Given the description of an element on the screen output the (x, y) to click on. 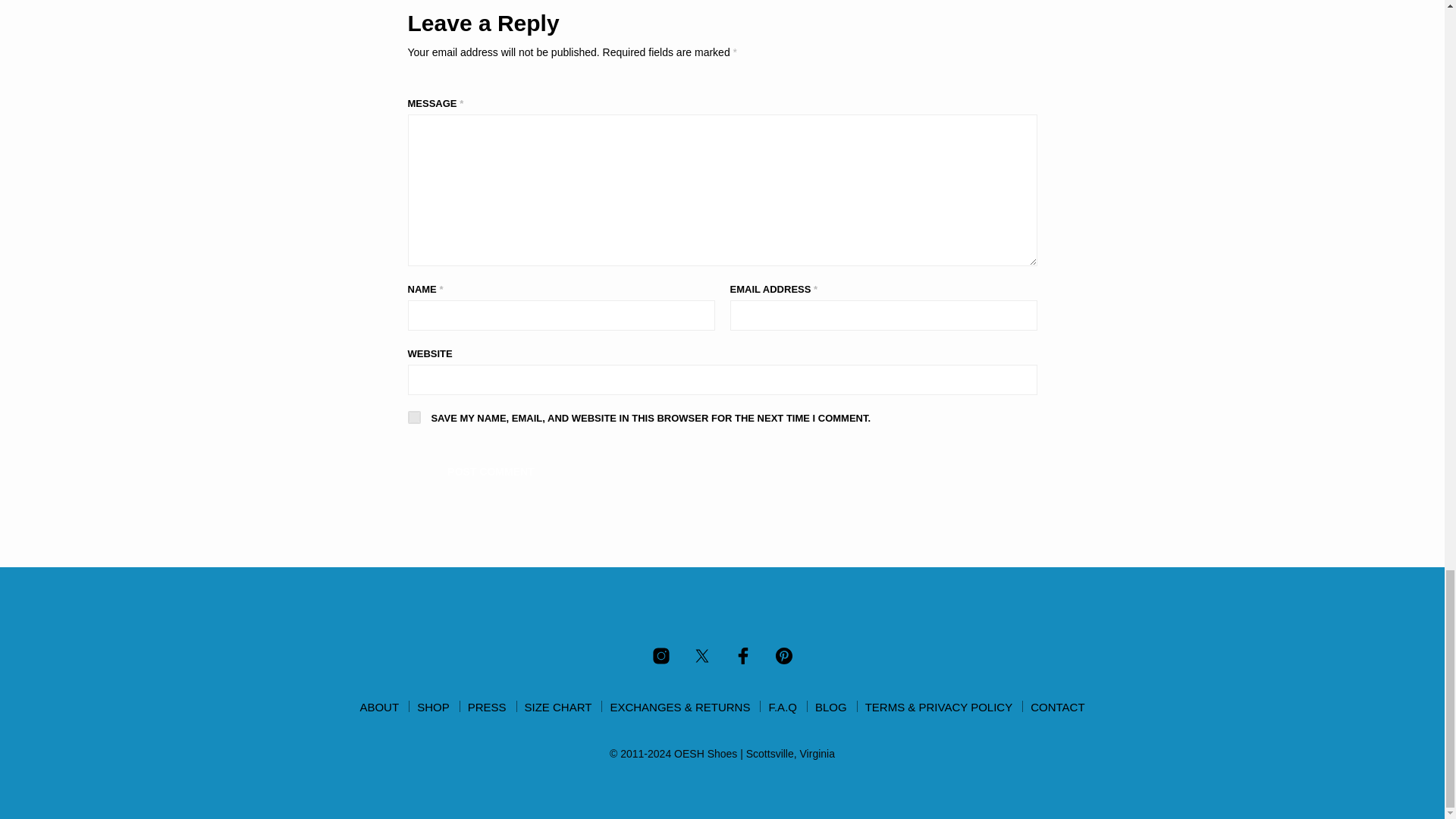
ABOUT (378, 707)
SHOP (432, 707)
yes (413, 417)
PRESS (486, 707)
Post Comment (491, 471)
Post Comment (491, 471)
